Given the description of an element on the screen output the (x, y) to click on. 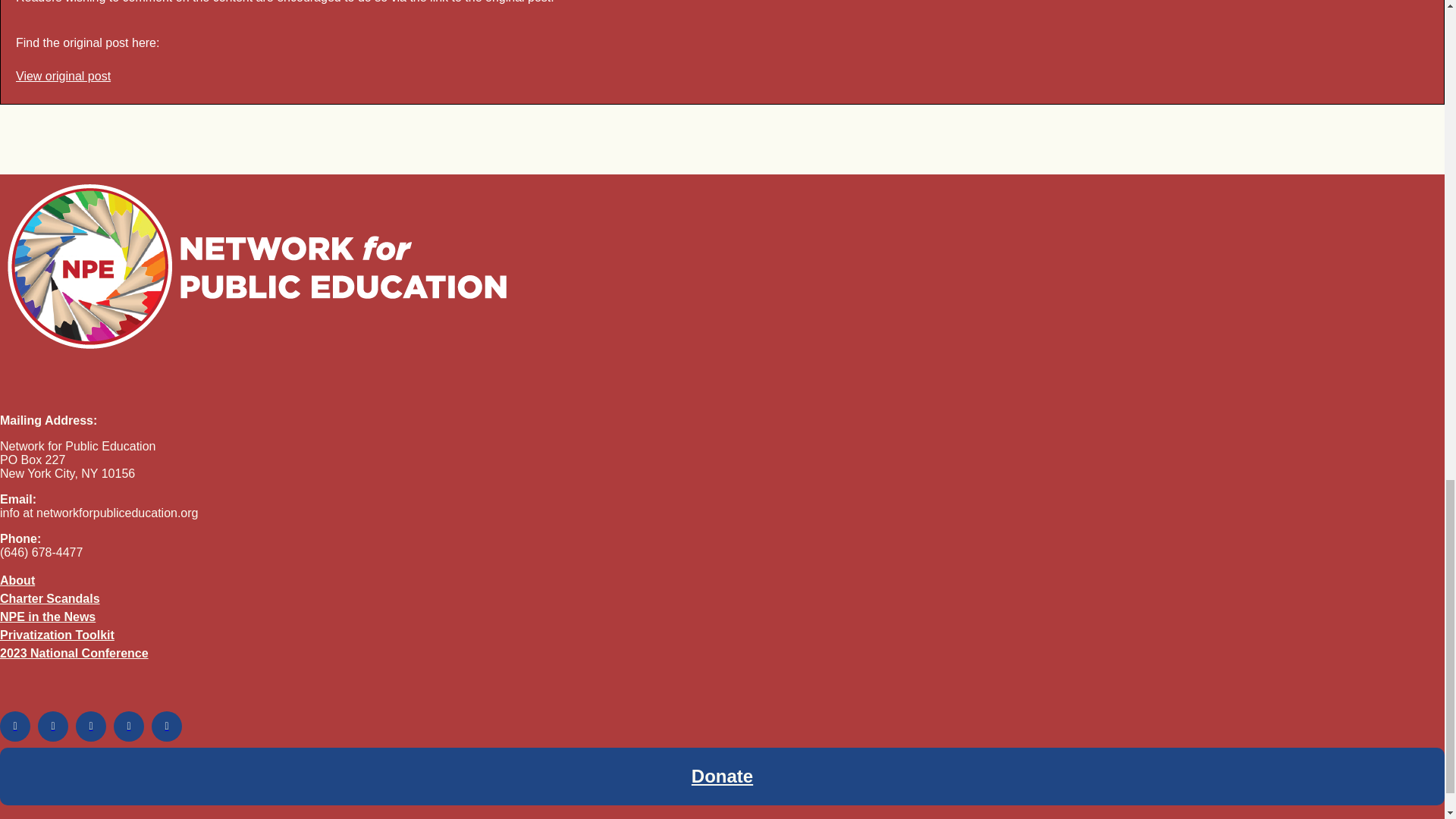
facebook (15, 726)
tik tok (128, 726)
threads (166, 726)
twitter (52, 726)
instagram (90, 726)
